Given the description of an element on the screen output the (x, y) to click on. 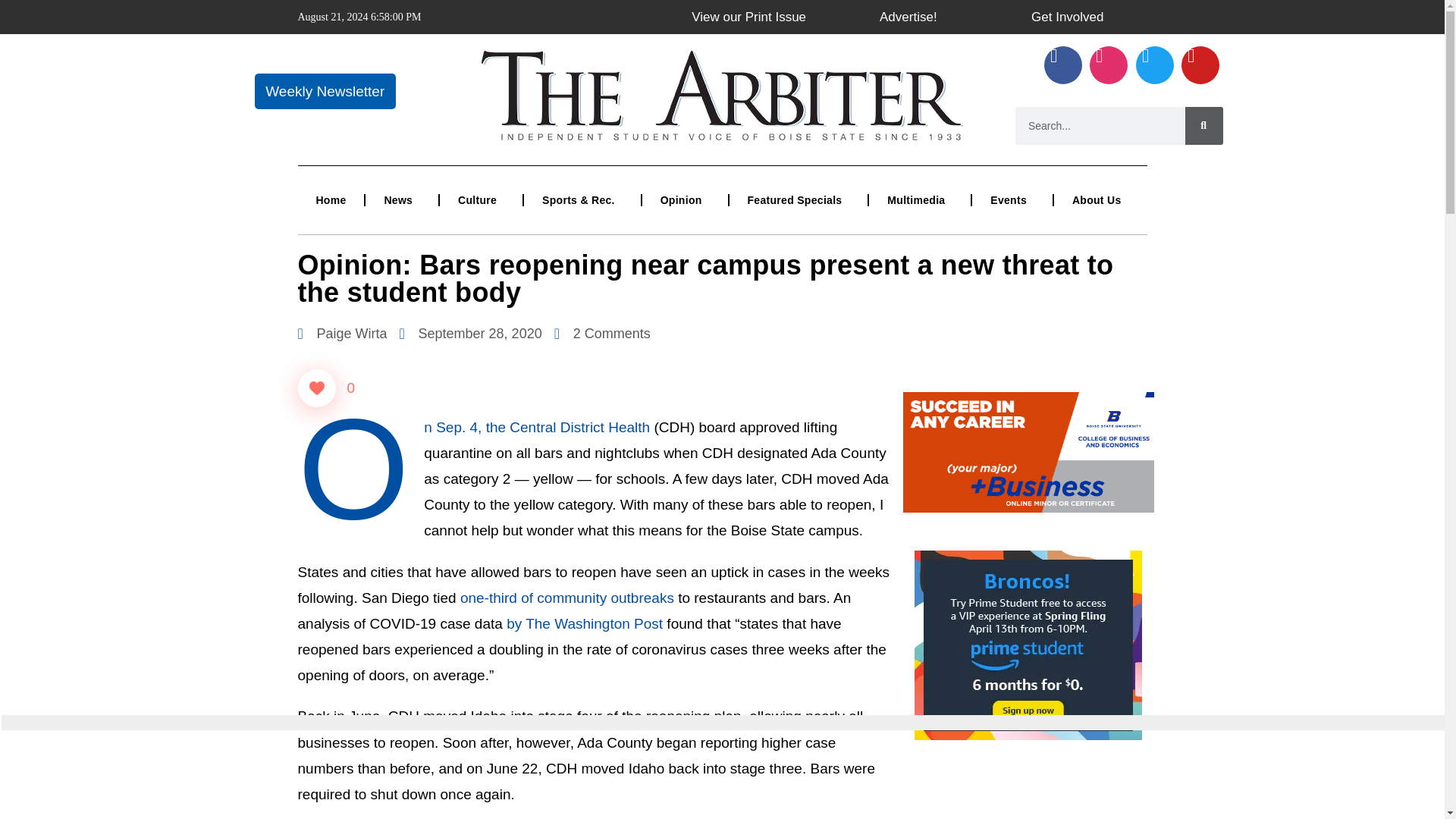
News (401, 199)
Featured Specials (798, 199)
Home (330, 199)
Opinion (685, 199)
Culture (480, 199)
